Given the description of an element on the screen output the (x, y) to click on. 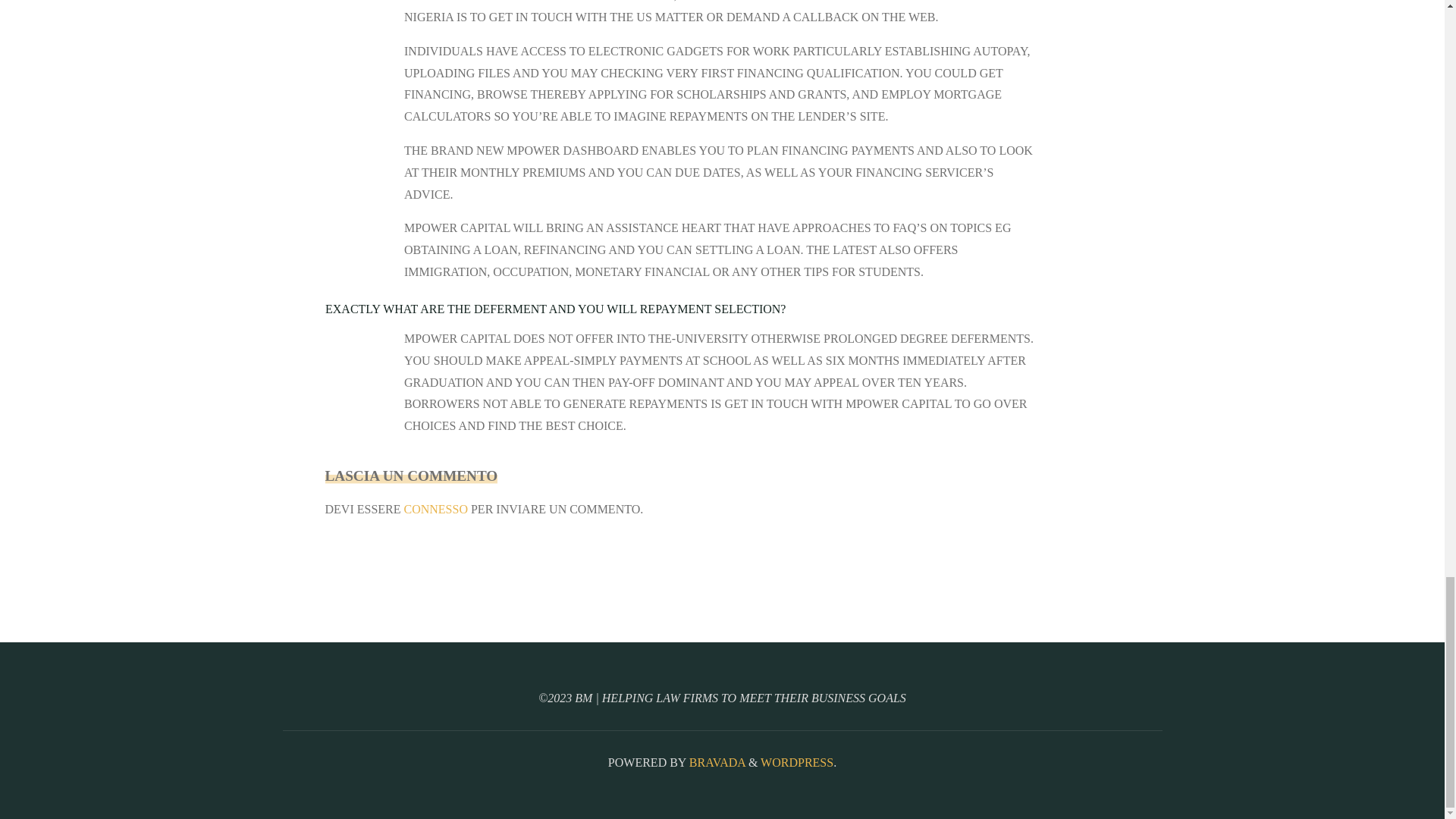
Piattaforma semantica di editoria personale  (796, 762)
CONNESSO (435, 508)
WORDPRESS (796, 762)
Bravada WordPress Theme by Cryout Creations (715, 762)
BRAVADA (715, 762)
